Given the description of an element on the screen output the (x, y) to click on. 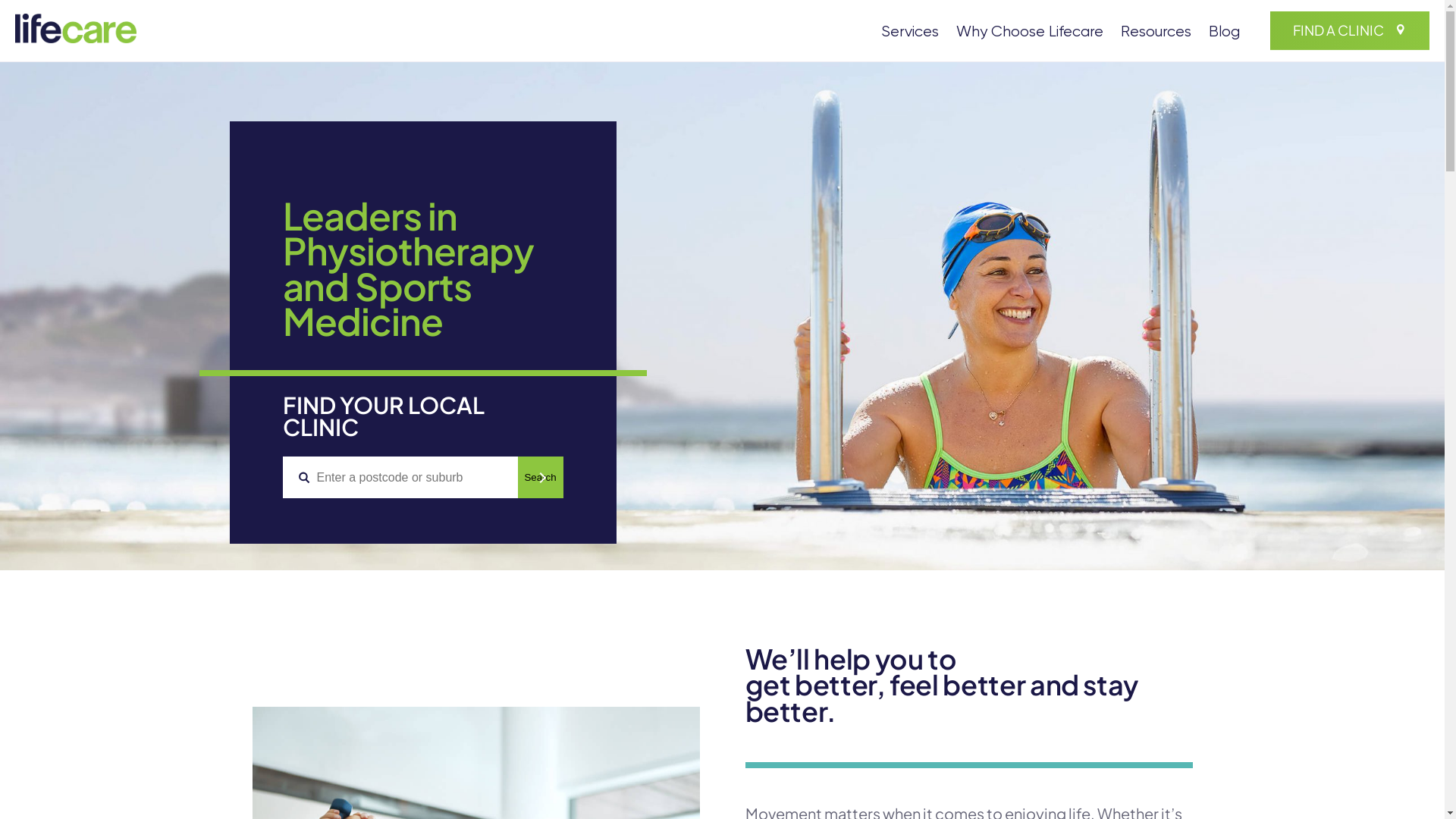
Why Choose Lifecare Element type: text (1029, 32)
Resources Element type: text (1155, 32)
Services Element type: text (909, 32)
Search Element type: text (539, 477)
Blog Element type: text (1223, 32)
FIND A CLINIC Element type: text (1349, 30)
